Given the description of an element on the screen output the (x, y) to click on. 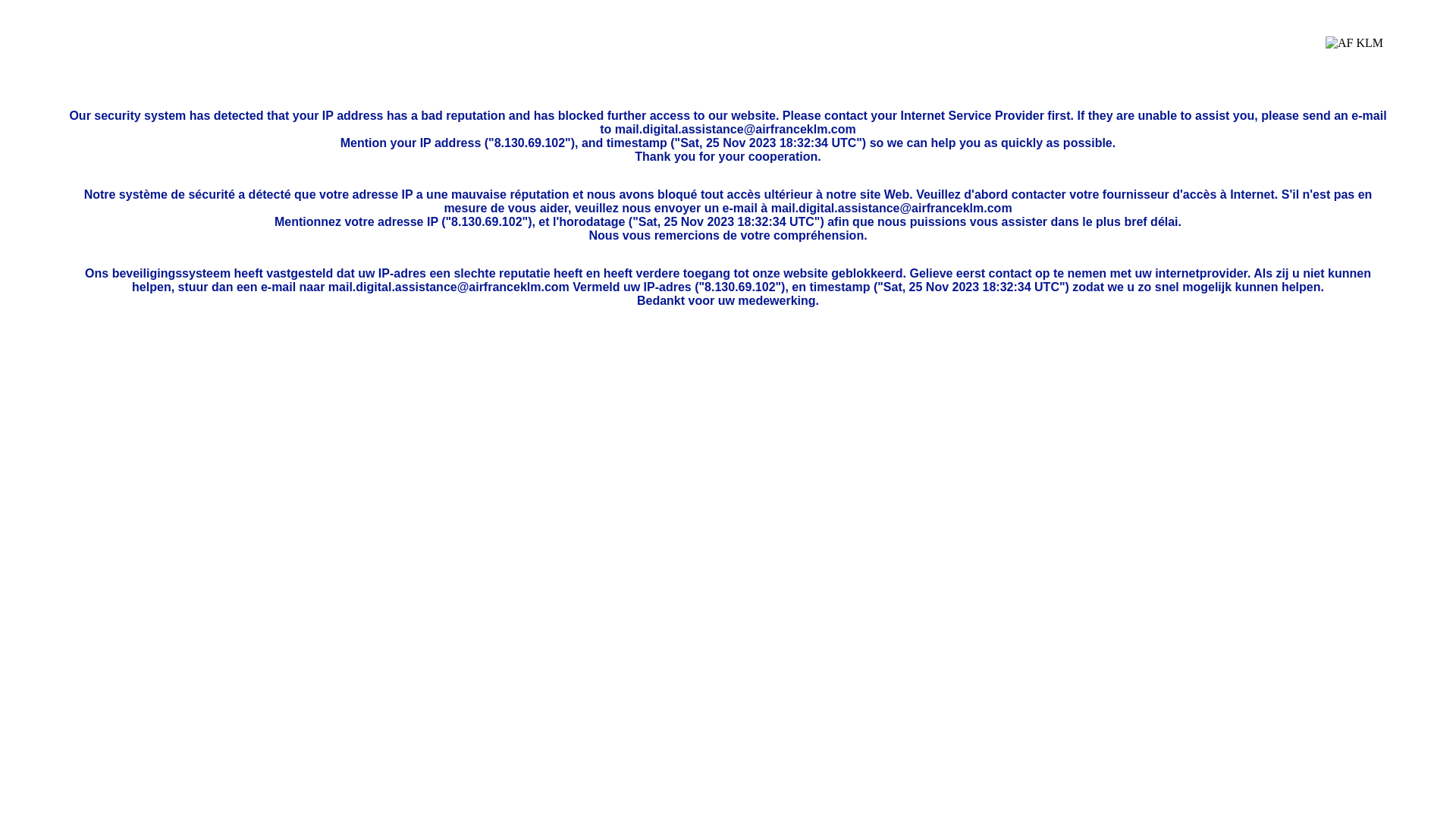
AF KLM Element type: hover (1354, 54)
